Given the description of an element on the screen output the (x, y) to click on. 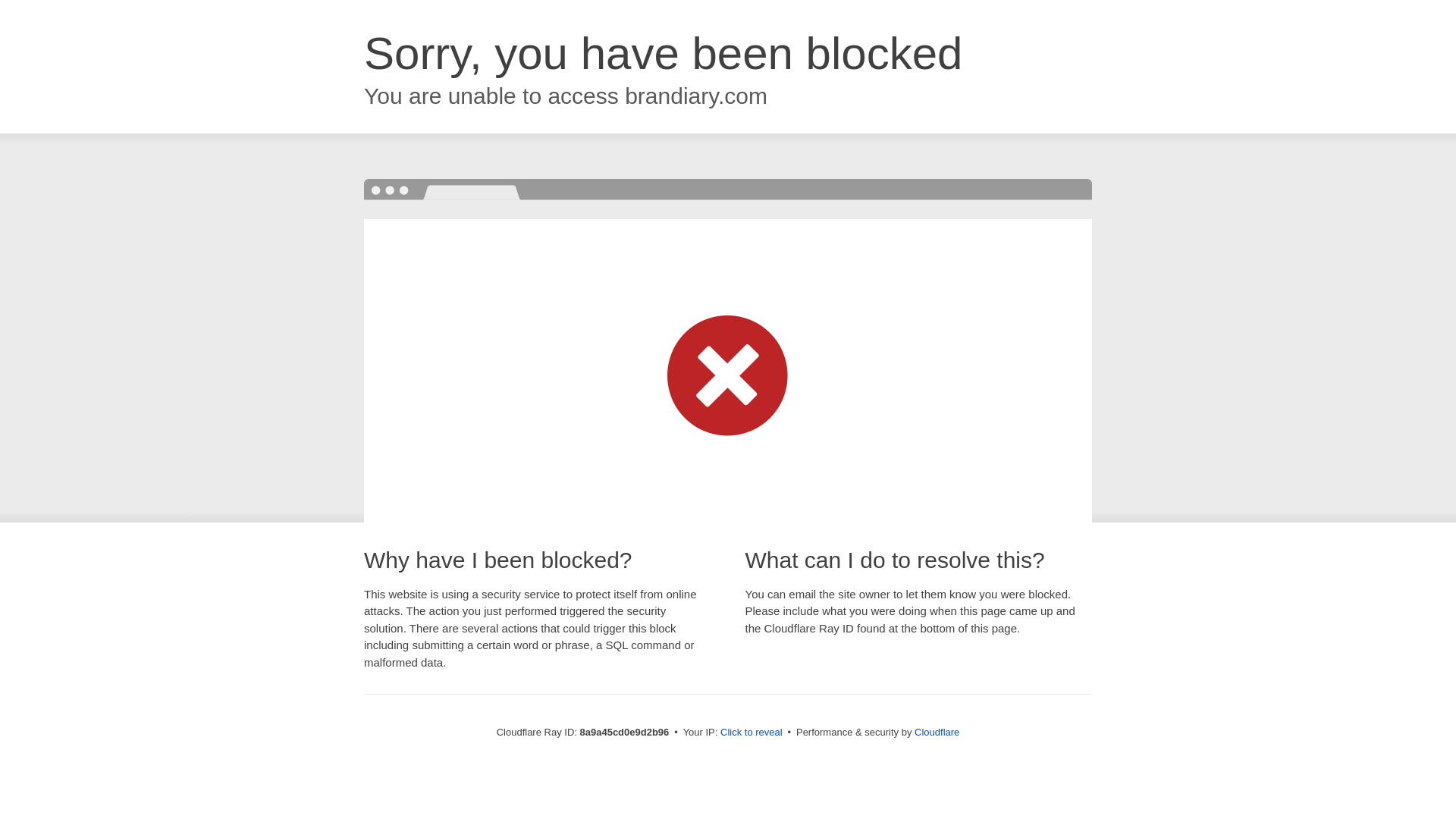
Click to reveal (751, 732)
Cloudflare (936, 731)
